Given the description of an element on the screen output the (x, y) to click on. 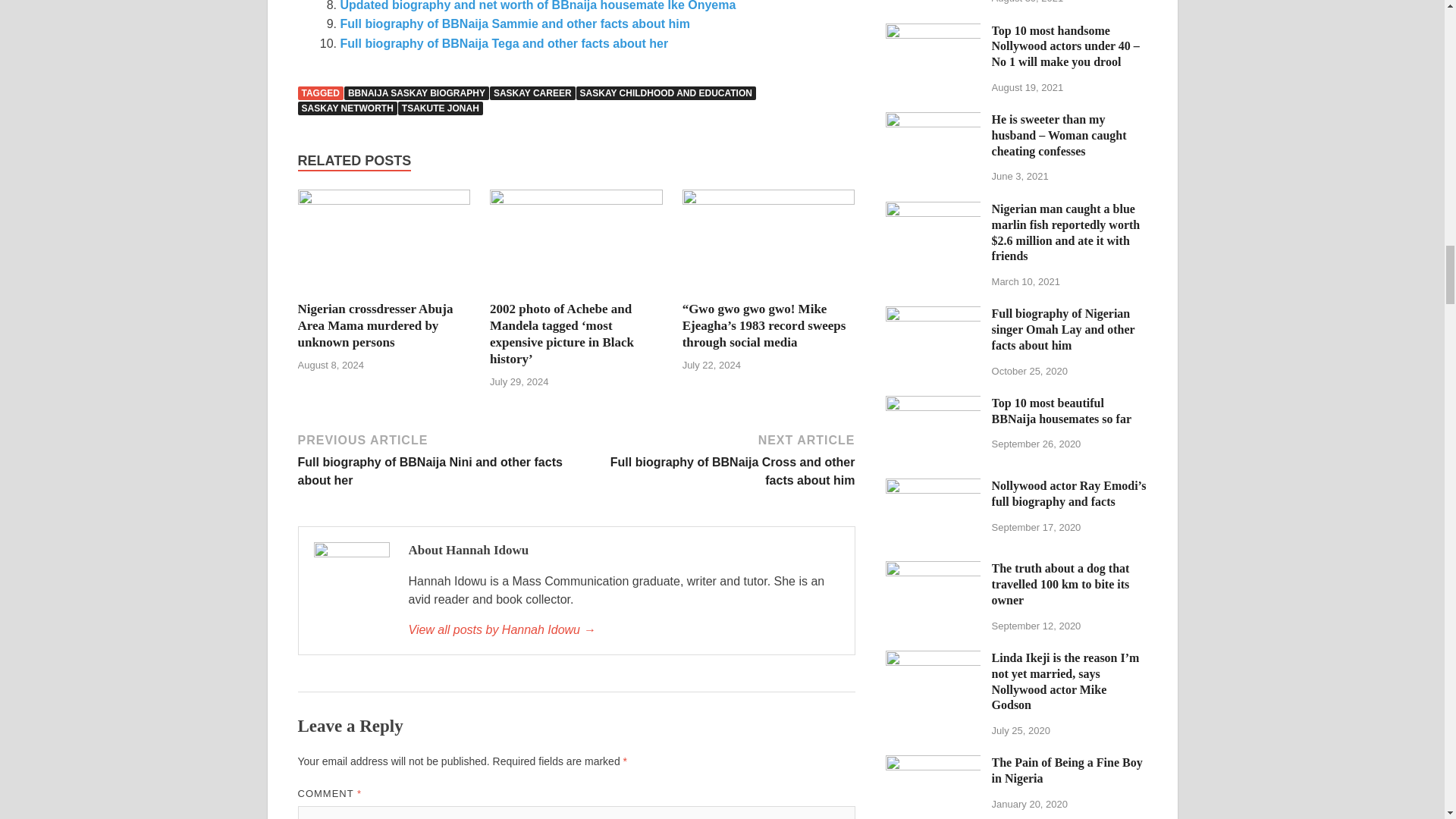
Full biography of BBNaija Tega and other facts about her (503, 42)
Full biography of BBNaija Sammie and other facts about him (513, 23)
